Given the description of an element on the screen output the (x, y) to click on. 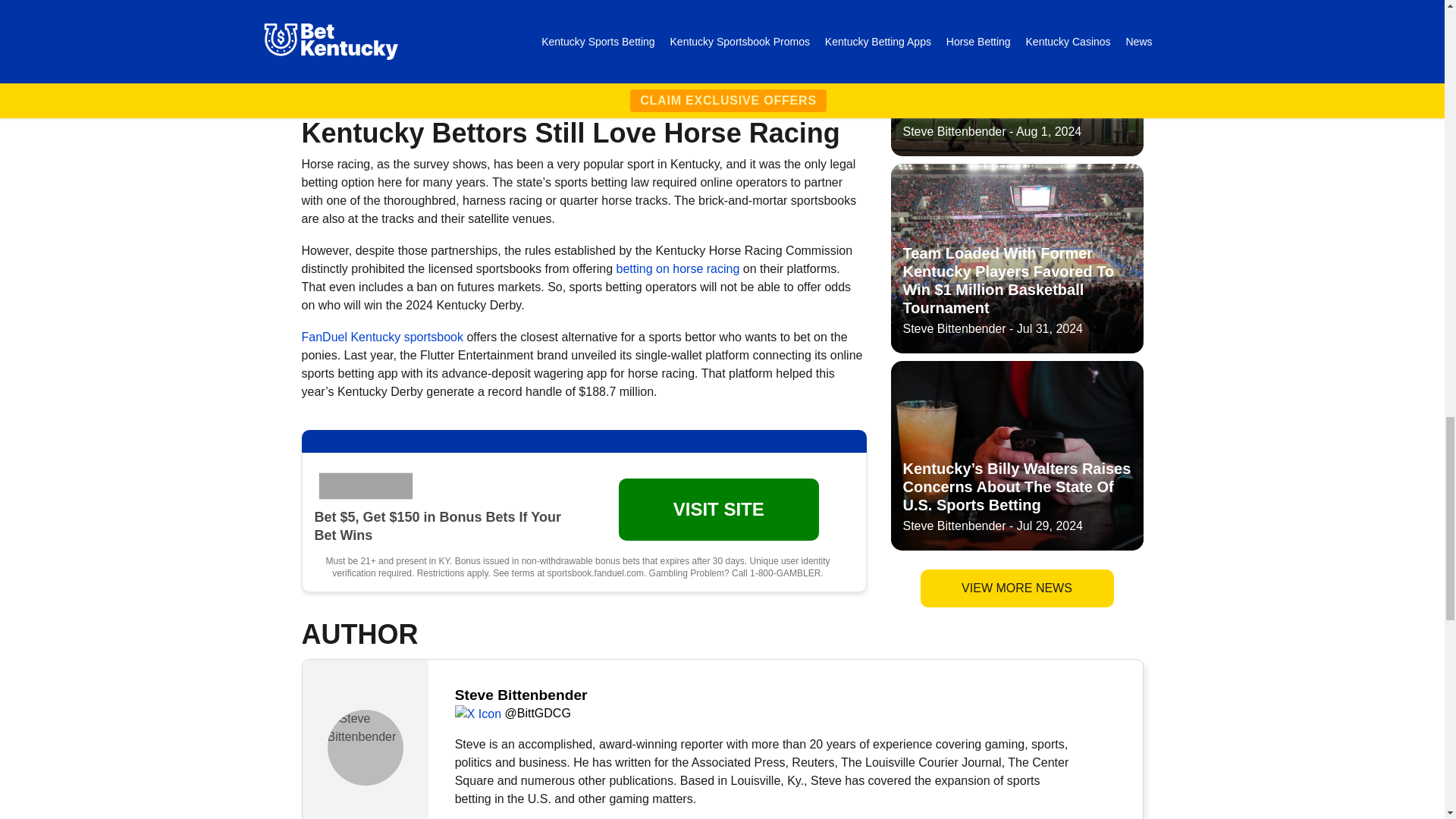
Steve Bittenbender (365, 747)
FanDuel Sports (368, 485)
DraftKings Sports (368, 13)
